Given the description of an element on the screen output the (x, y) to click on. 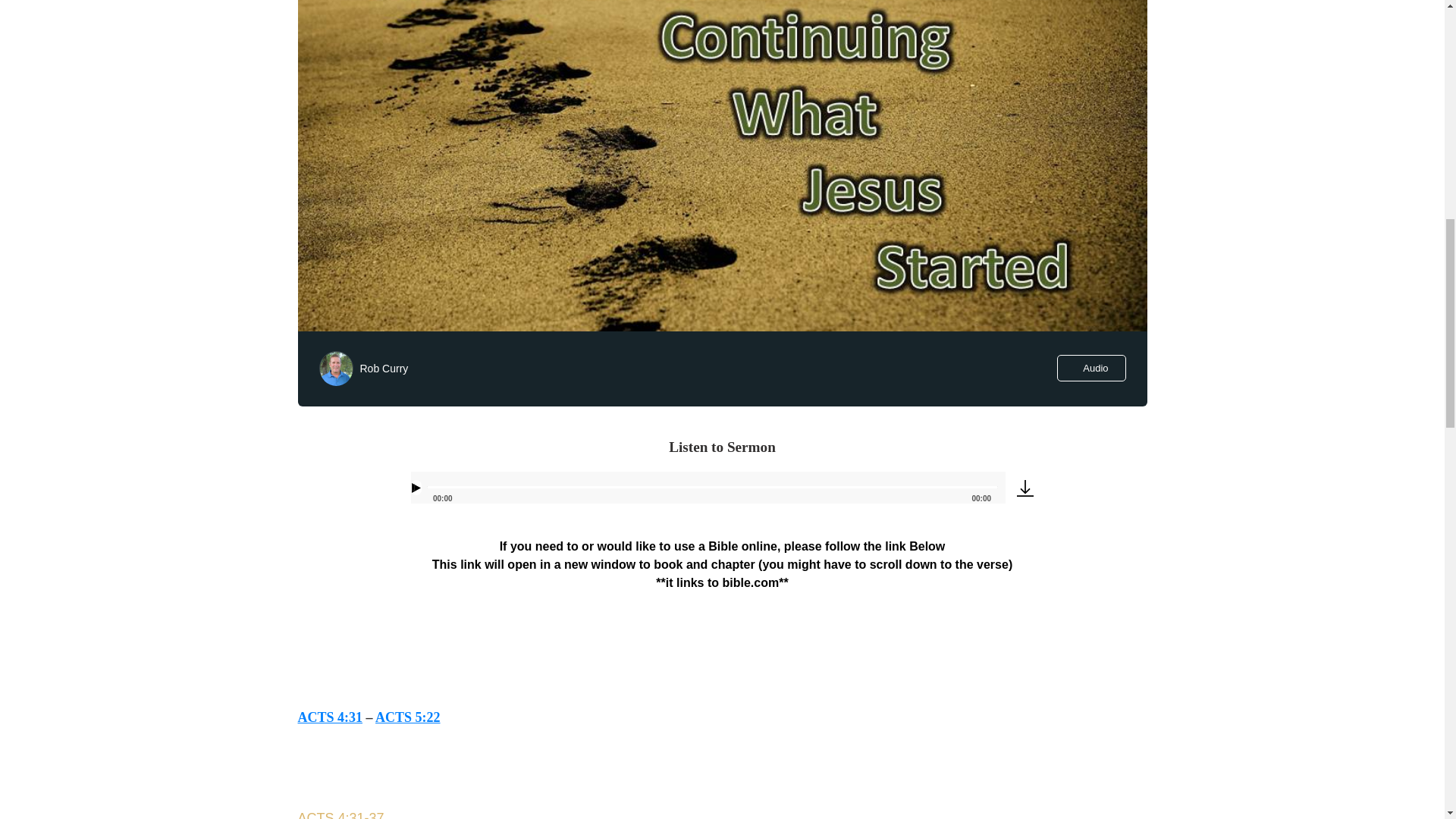
ACTS 5:22 (408, 717)
Rob Curry (383, 368)
ACTS 4:31 (329, 717)
Audio (1091, 367)
